Given the description of an element on the screen output the (x, y) to click on. 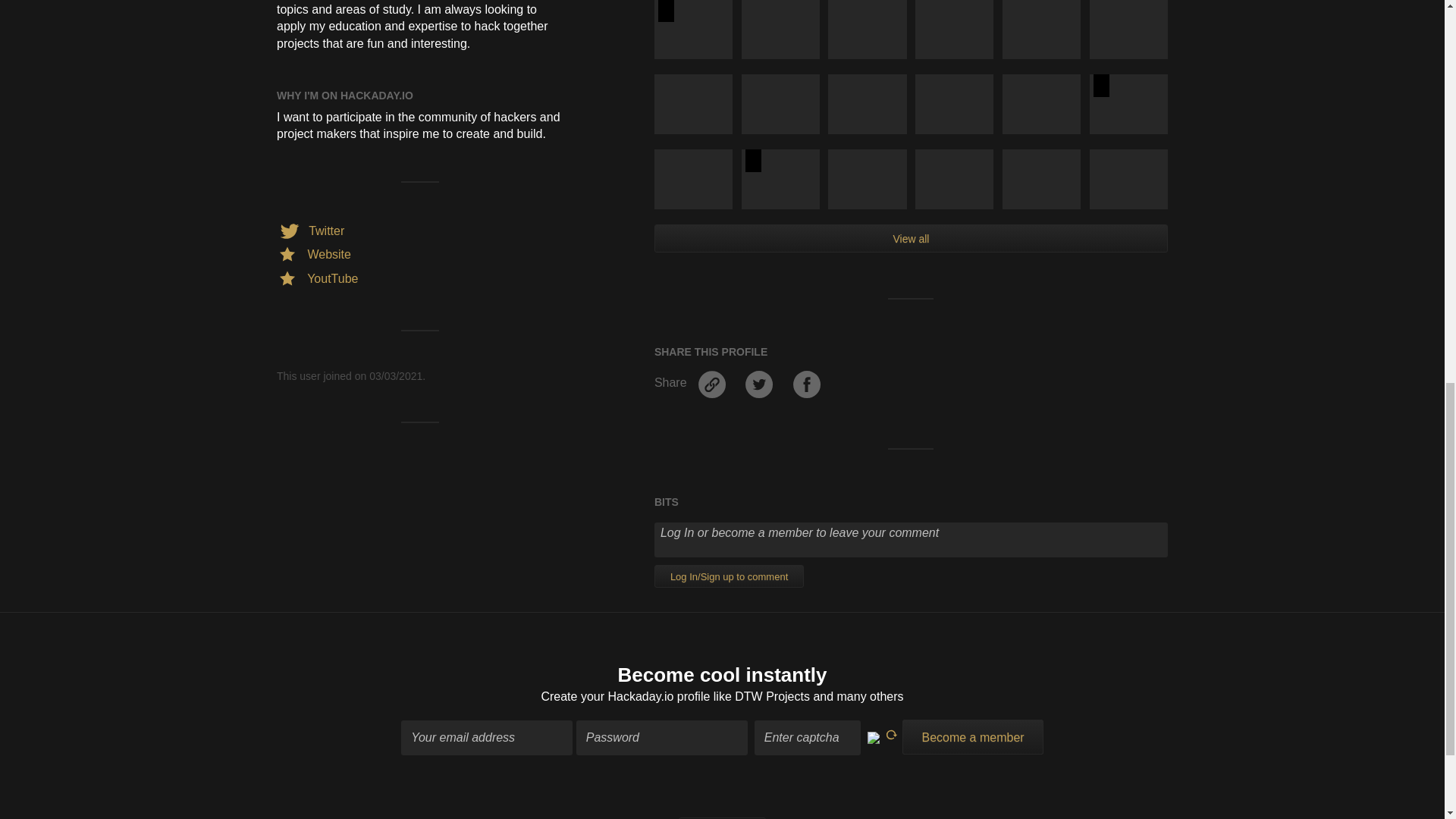
Website (313, 254)
YoutTube (317, 278)
Twitter (309, 230)
DIY hobby servos quadruped robot by Miguel Ayuso Parrilla (692, 29)
